Given the description of an element on the screen output the (x, y) to click on. 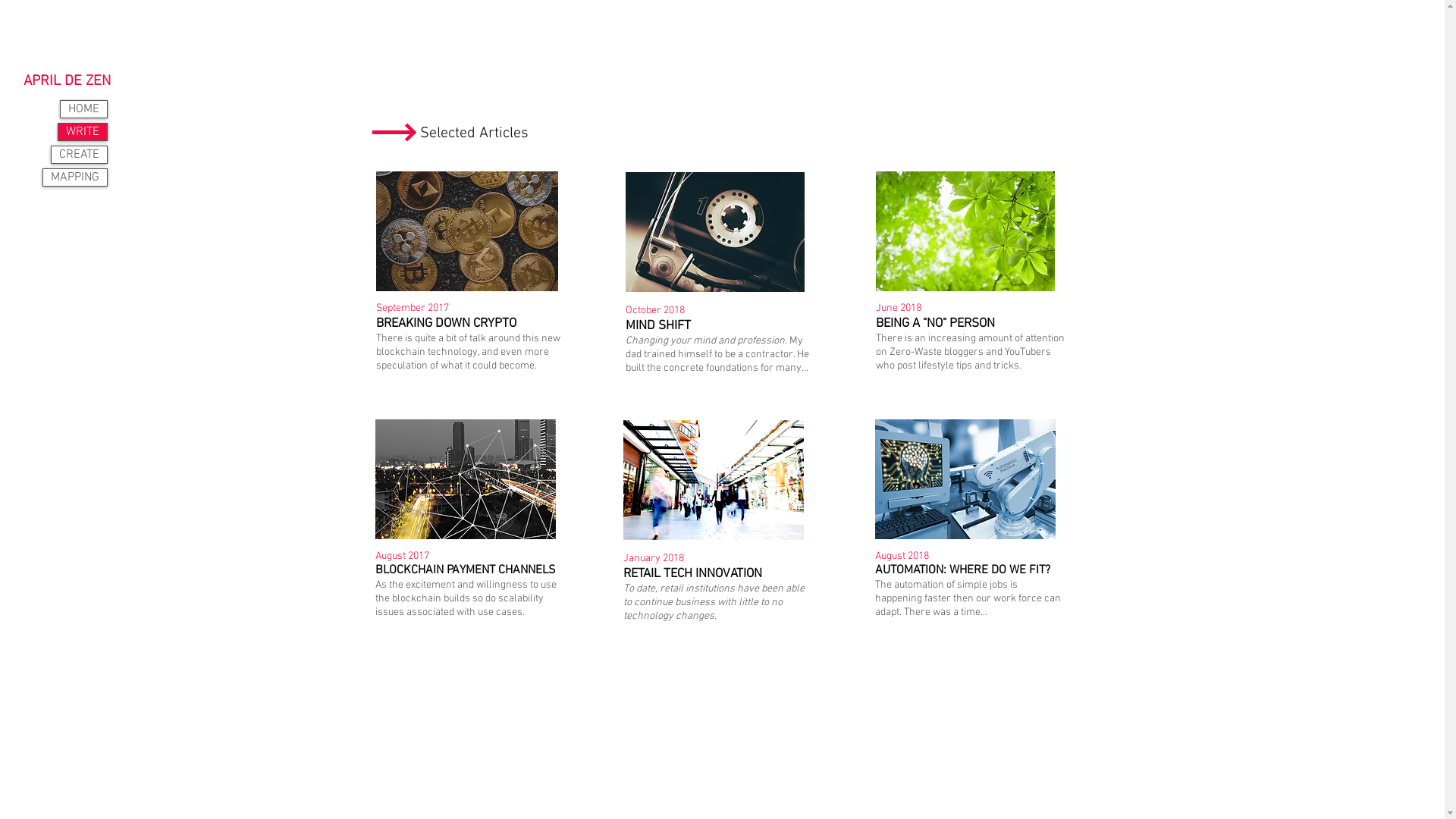
HOME Element type: text (83, 108)
CREATE Element type: text (78, 154)
WRITE Element type: text (82, 131)
MAPPING Element type: text (74, 177)
